Given the description of an element on the screen output the (x, y) to click on. 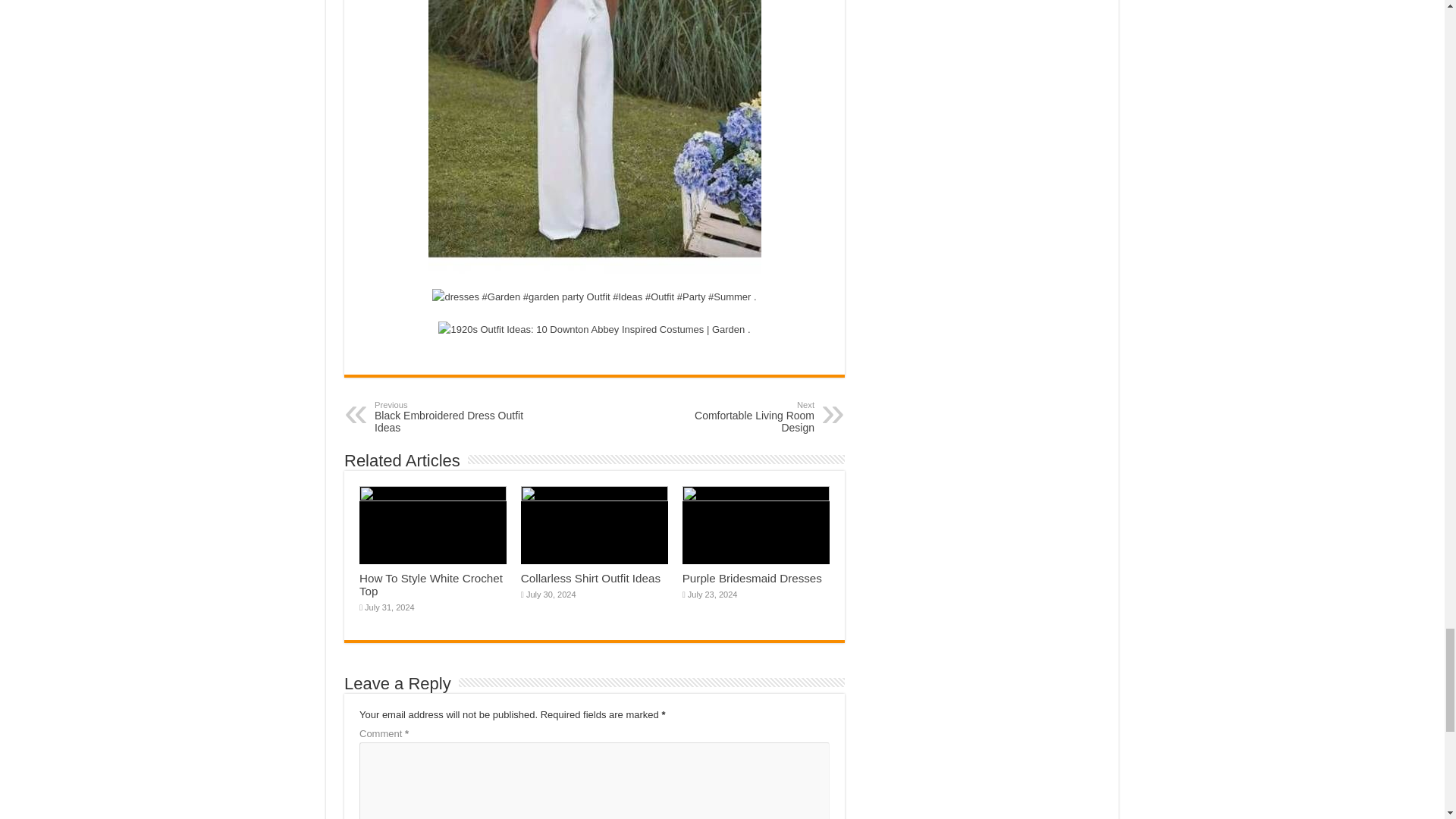
How To Style White Crochet Top (430, 584)
Purple Bridesmaid Dresses (736, 417)
Collarless Shirt Outfit Ideas (451, 417)
